Given the description of an element on the screen output the (x, y) to click on. 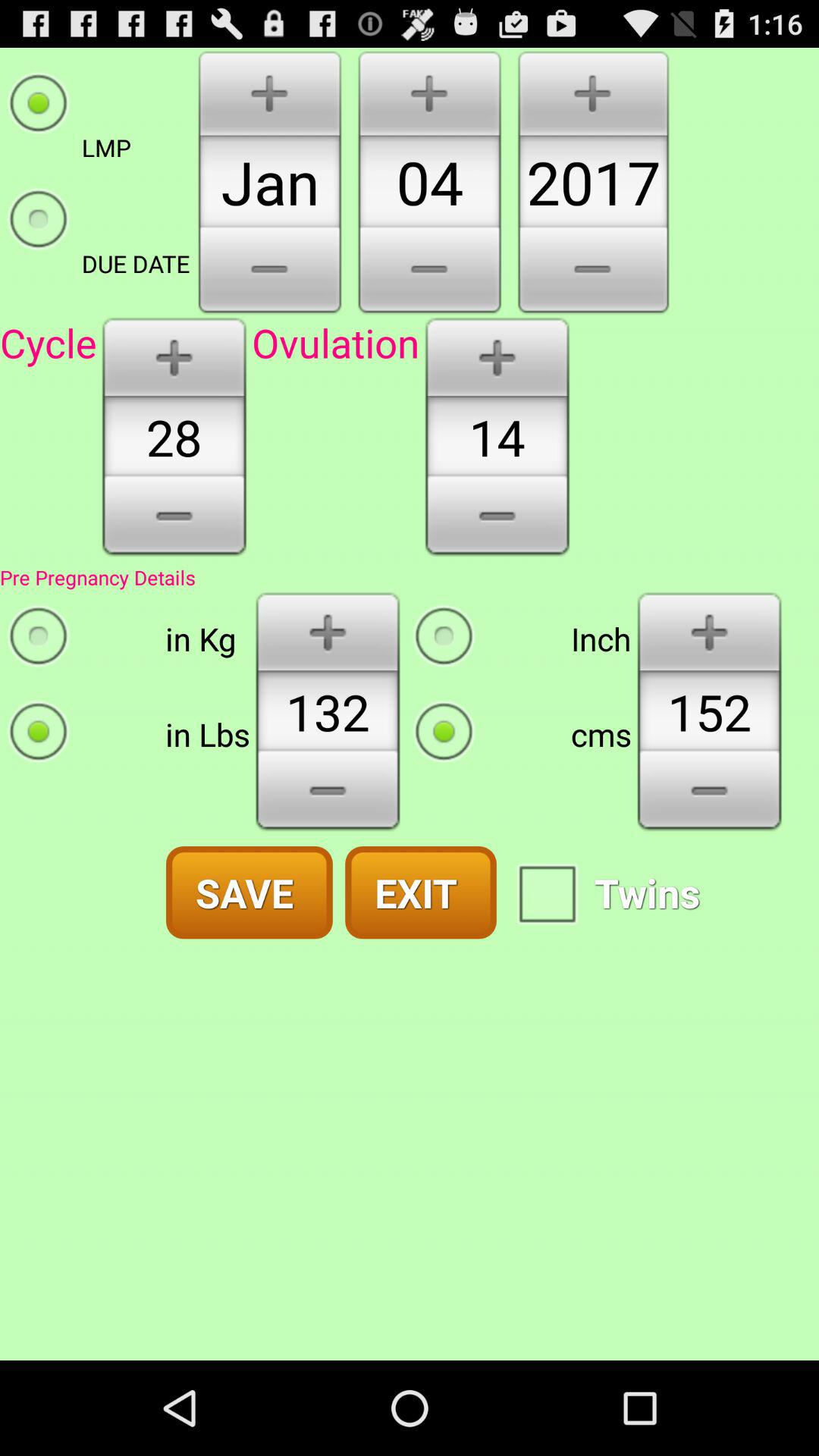
increment one more (497, 355)
